Given the description of an element on the screen output the (x, y) to click on. 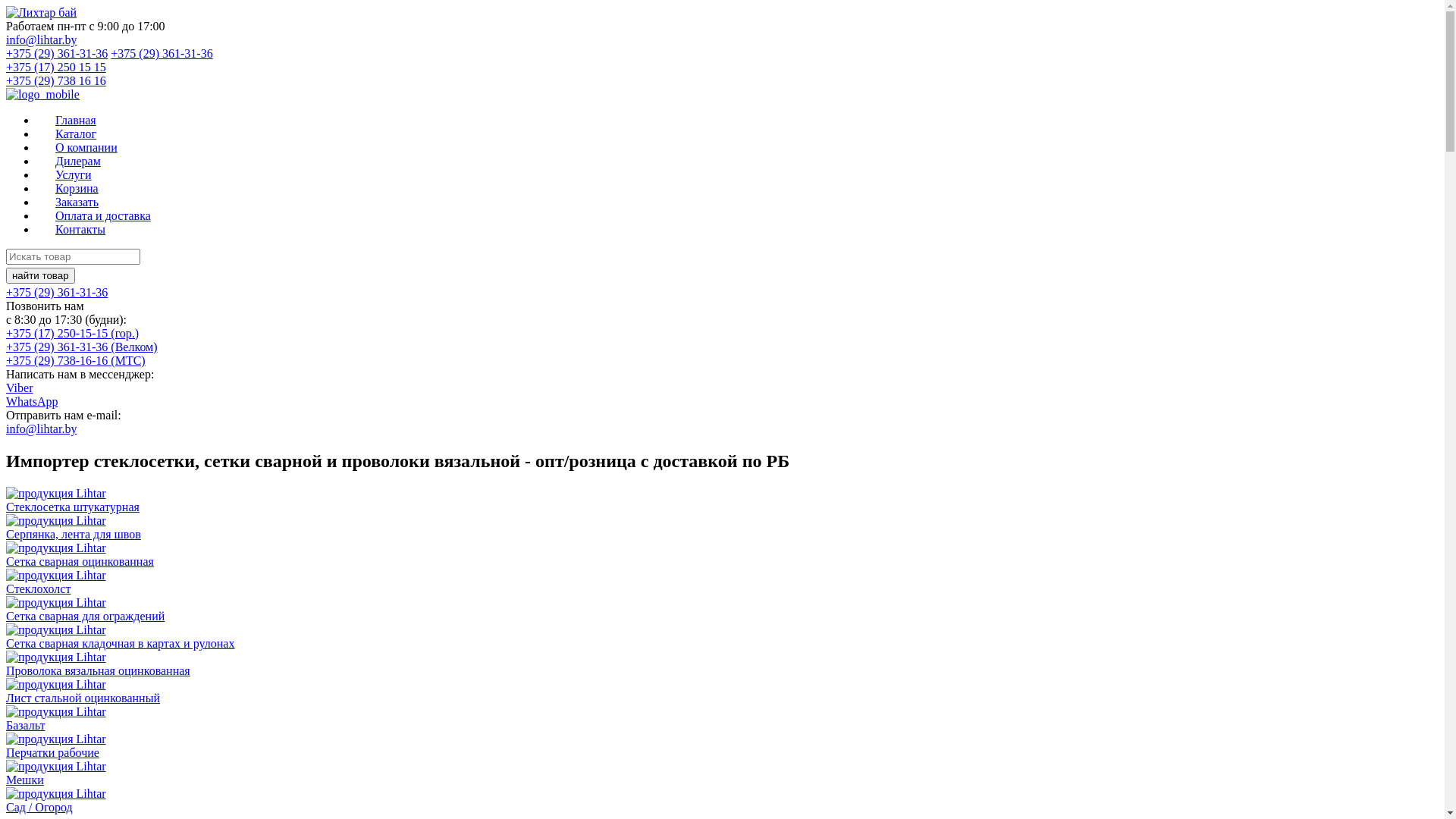
+375 (29) 361-31-36 Element type: text (56, 53)
+375 (29) 361-31-36 Element type: text (56, 291)
WhatsApp Element type: text (31, 401)
+375 (29) 738 16 16 Element type: text (56, 80)
+375 (29) 361-31-36 Element type: text (161, 53)
Viber Element type: text (19, 387)
+375 (17) 250 15 15 Element type: text (56, 66)
info@lihtar.by Element type: text (41, 39)
info@lihtar.by Element type: text (41, 428)
